Given the description of an element on the screen output the (x, y) to click on. 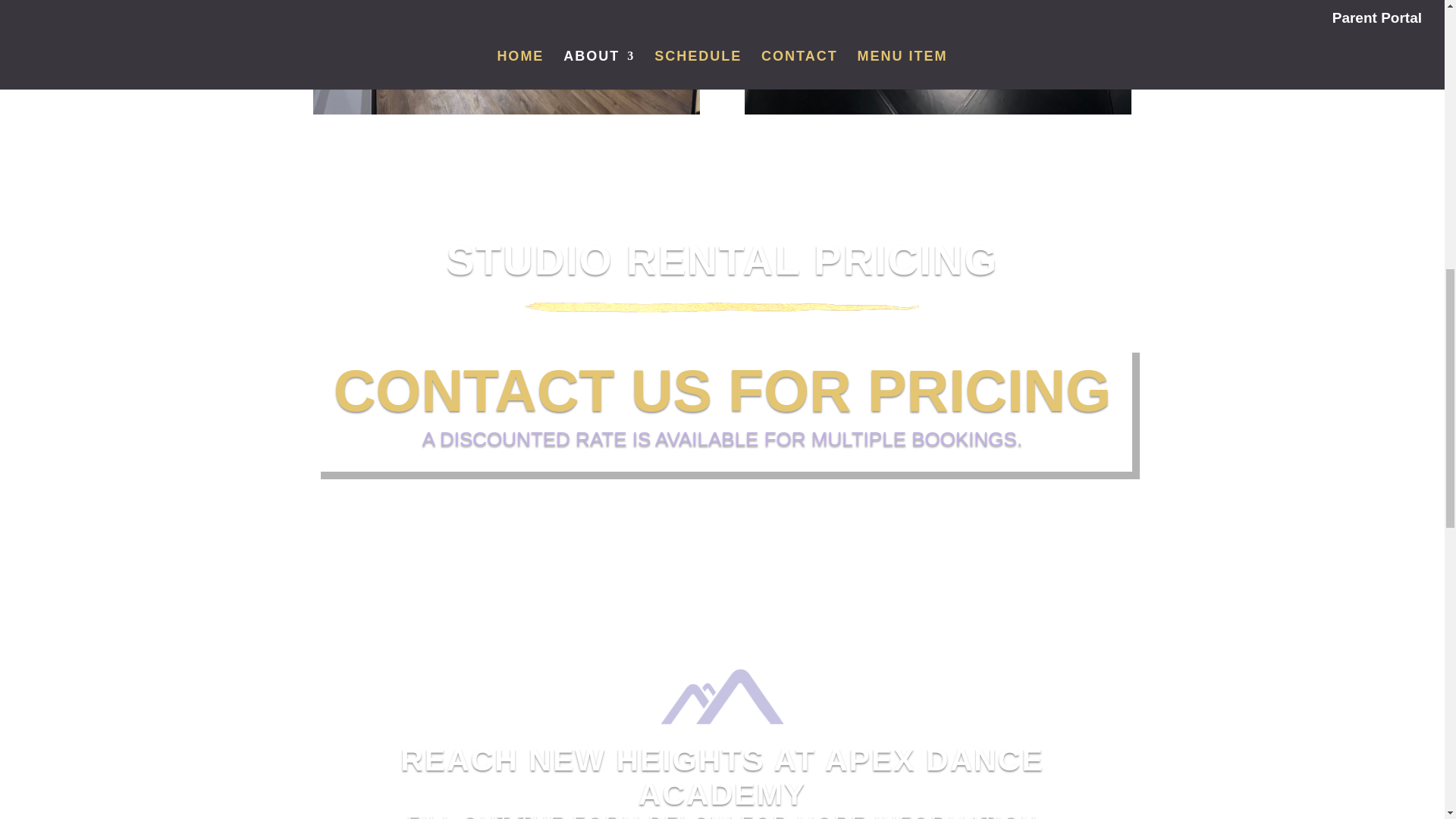
LEARN MORE ABOUT ADA (722, 530)
